Given the description of an element on the screen output the (x, y) to click on. 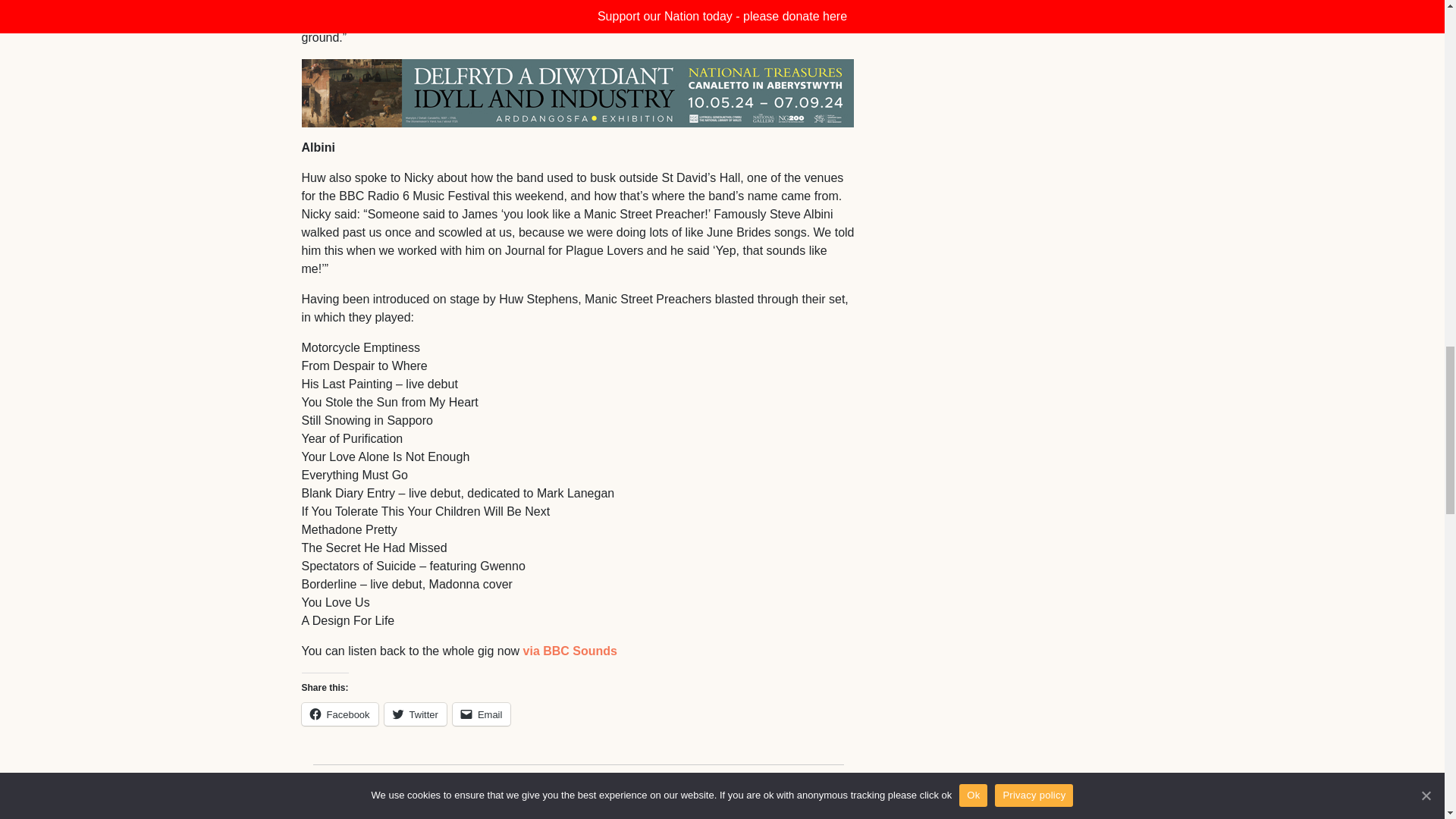
Click to share on Facebook (339, 713)
Email (481, 713)
Click to email a link to a friend (481, 713)
Twitter (415, 713)
via BBC Sounds (569, 650)
Click to share on Twitter (415, 713)
Facebook (339, 713)
